Given the description of an element on the screen output the (x, y) to click on. 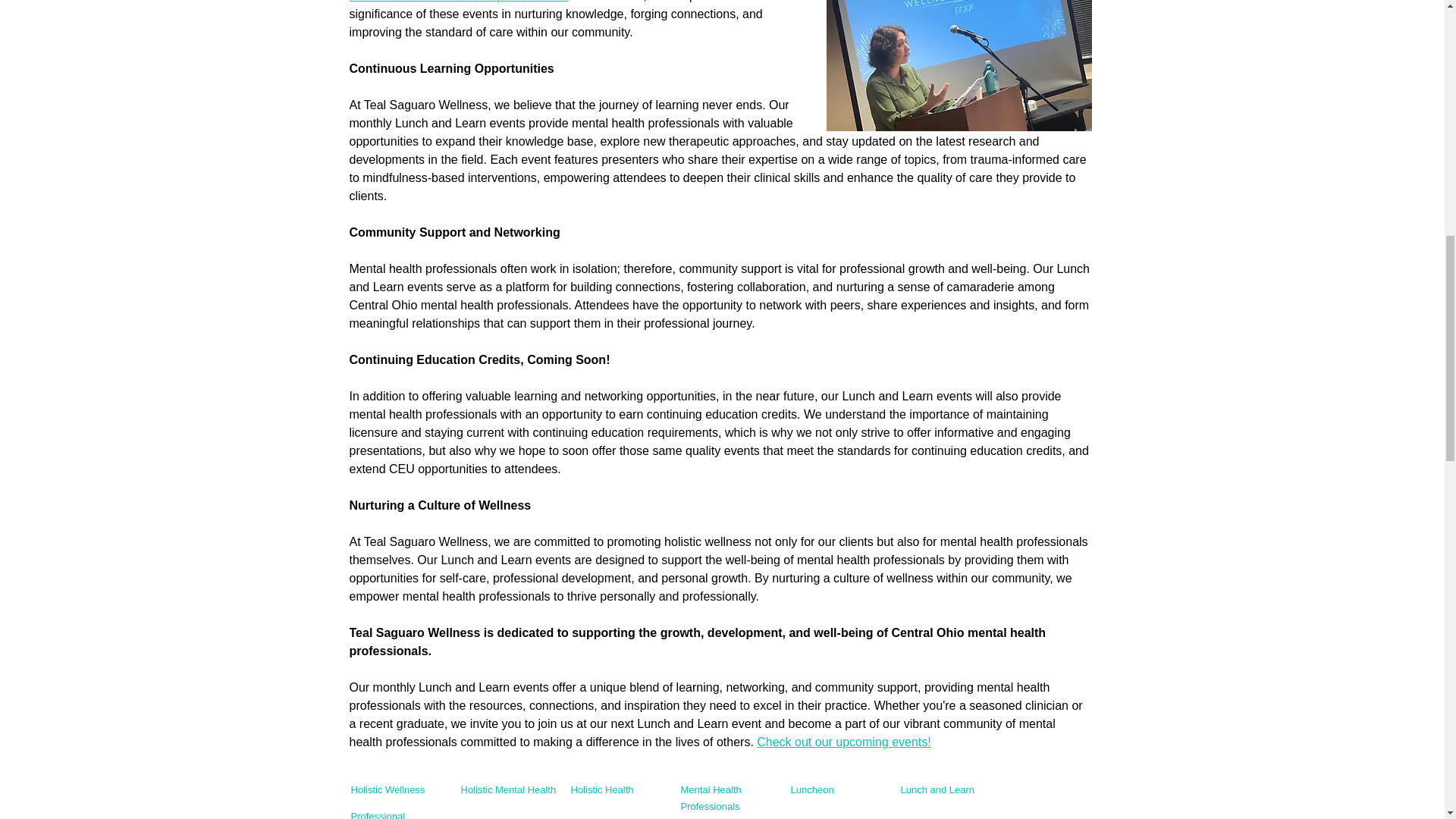
Check out our upcoming events! (843, 741)
